Given the description of an element on the screen output the (x, y) to click on. 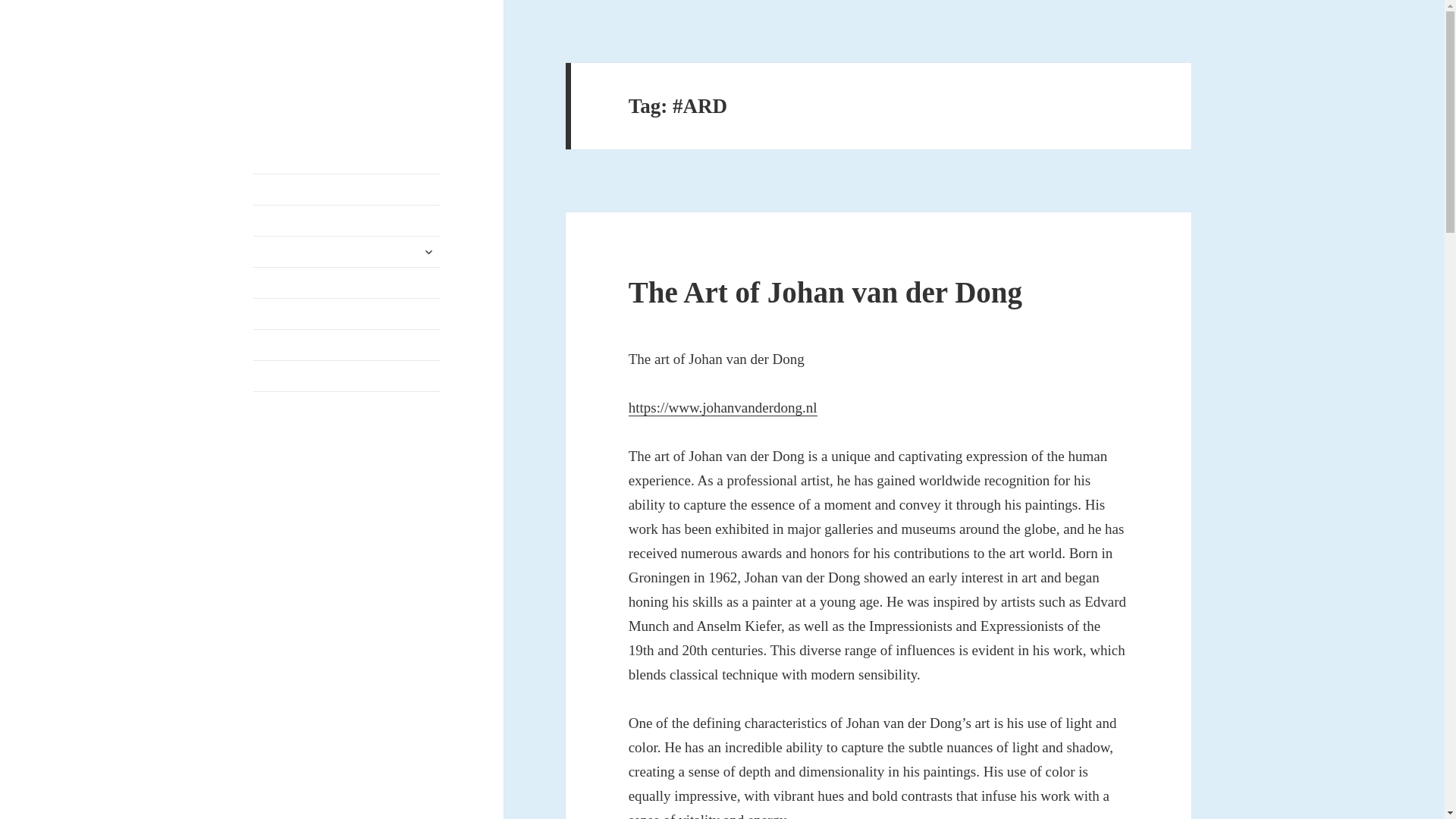
Art Channel (347, 313)
Contact (347, 376)
Kings Bird (347, 345)
submenu uitvouwen (428, 251)
Johan van der Dong (322, 86)
Summary of Projects (347, 282)
The Art of Johan van der Dong (825, 292)
Home (347, 189)
De Klimafoon (347, 220)
Johan (347, 251)
